Given the description of an element on the screen output the (x, y) to click on. 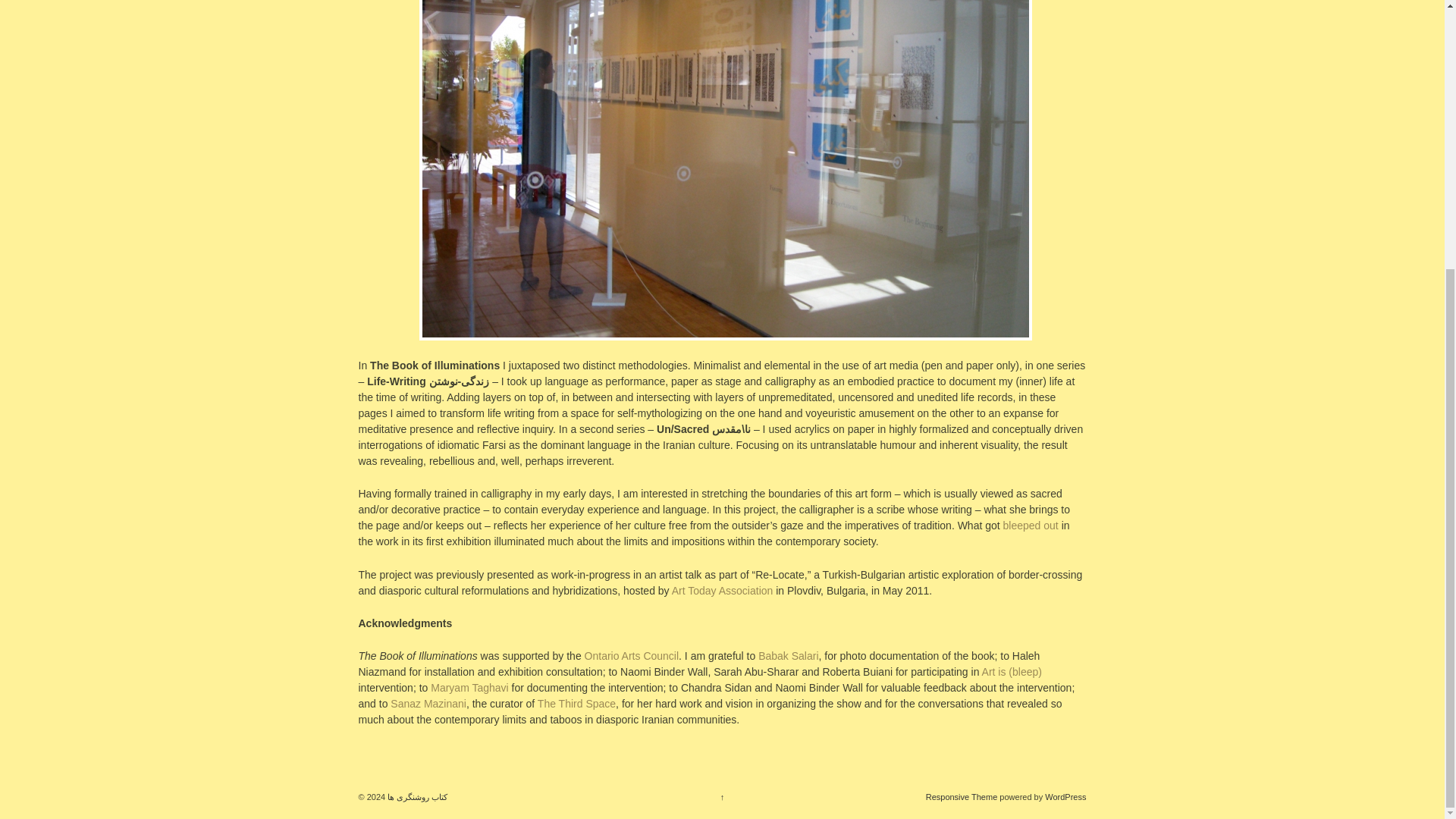
The Third Space (576, 703)
Ontario Arts Council (632, 655)
Responsive Theme (961, 796)
WordPress (1065, 796)
Responsive Theme (961, 796)
Art Today Association (722, 590)
Sanaz Mazinani (427, 703)
bleeped out (1030, 525)
Babak Salari (788, 655)
Maryam Taghavi (469, 687)
WordPress (1065, 796)
